Given the description of an element on the screen output the (x, y) to click on. 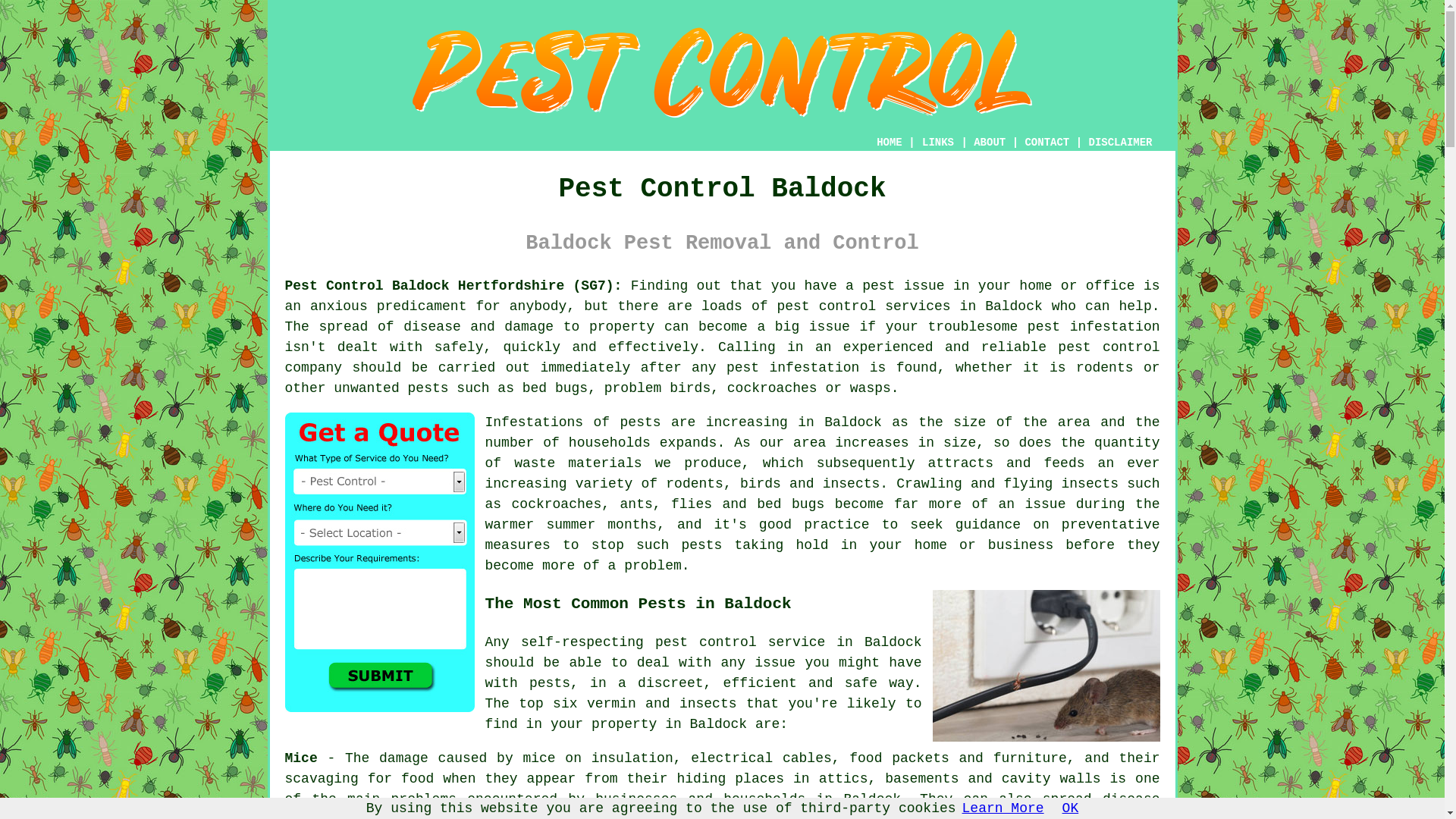
Pest Control Baldock (721, 72)
HOME (889, 142)
pest control (826, 305)
pests (640, 421)
LINKS (938, 142)
